Given the description of an element on the screen output the (x, y) to click on. 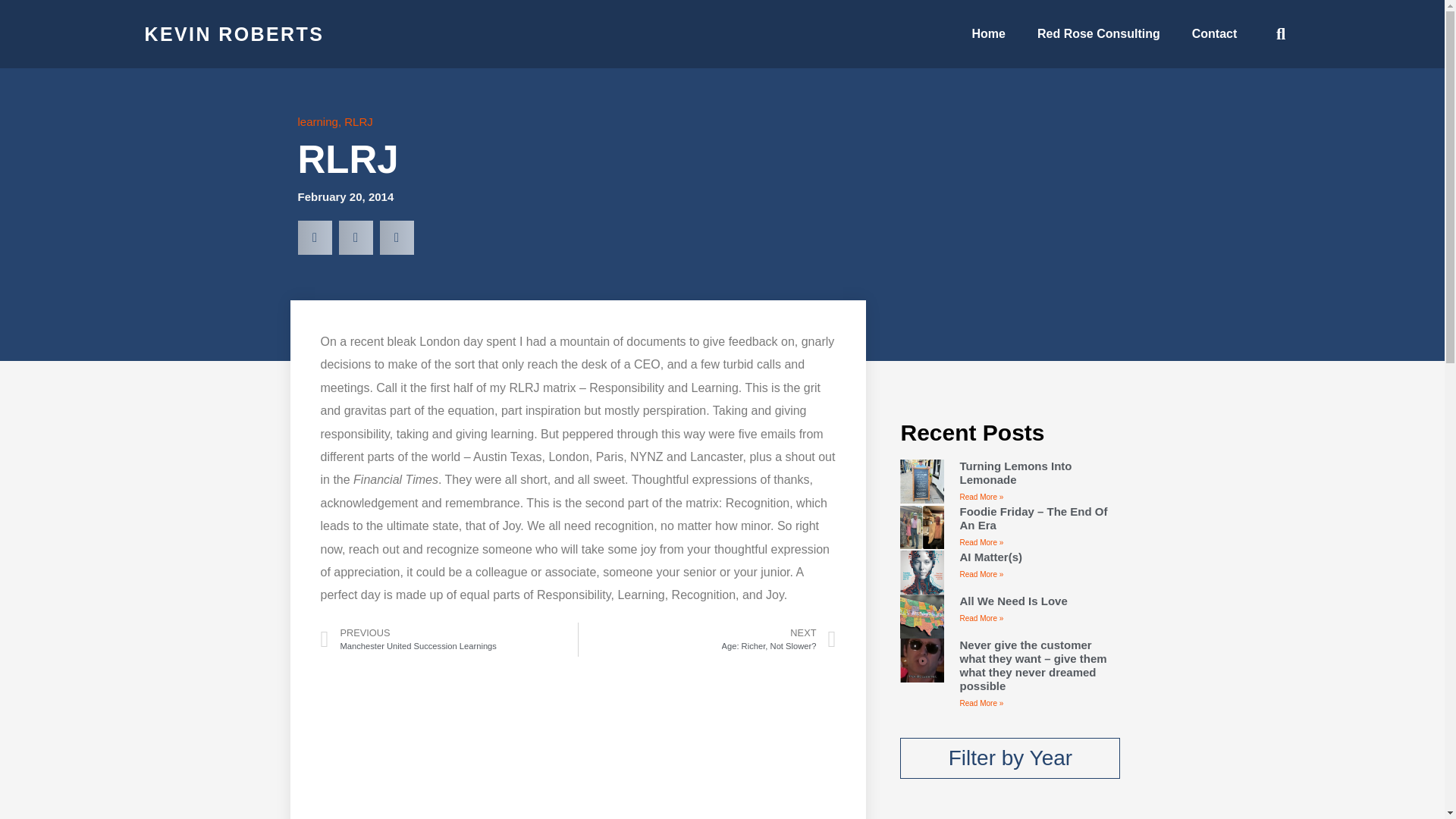
learning (317, 121)
Filter by Year (706, 639)
Contact (448, 639)
All We Need Is Love (1009, 757)
KEVIN ROBERTS (1214, 13)
February 20, 2014 (1013, 600)
Home (233, 16)
Red Rose Consulting (345, 197)
Turning Lemons Into Lemonade (989, 9)
RLRJ (1098, 12)
